Given the description of an element on the screen output the (x, y) to click on. 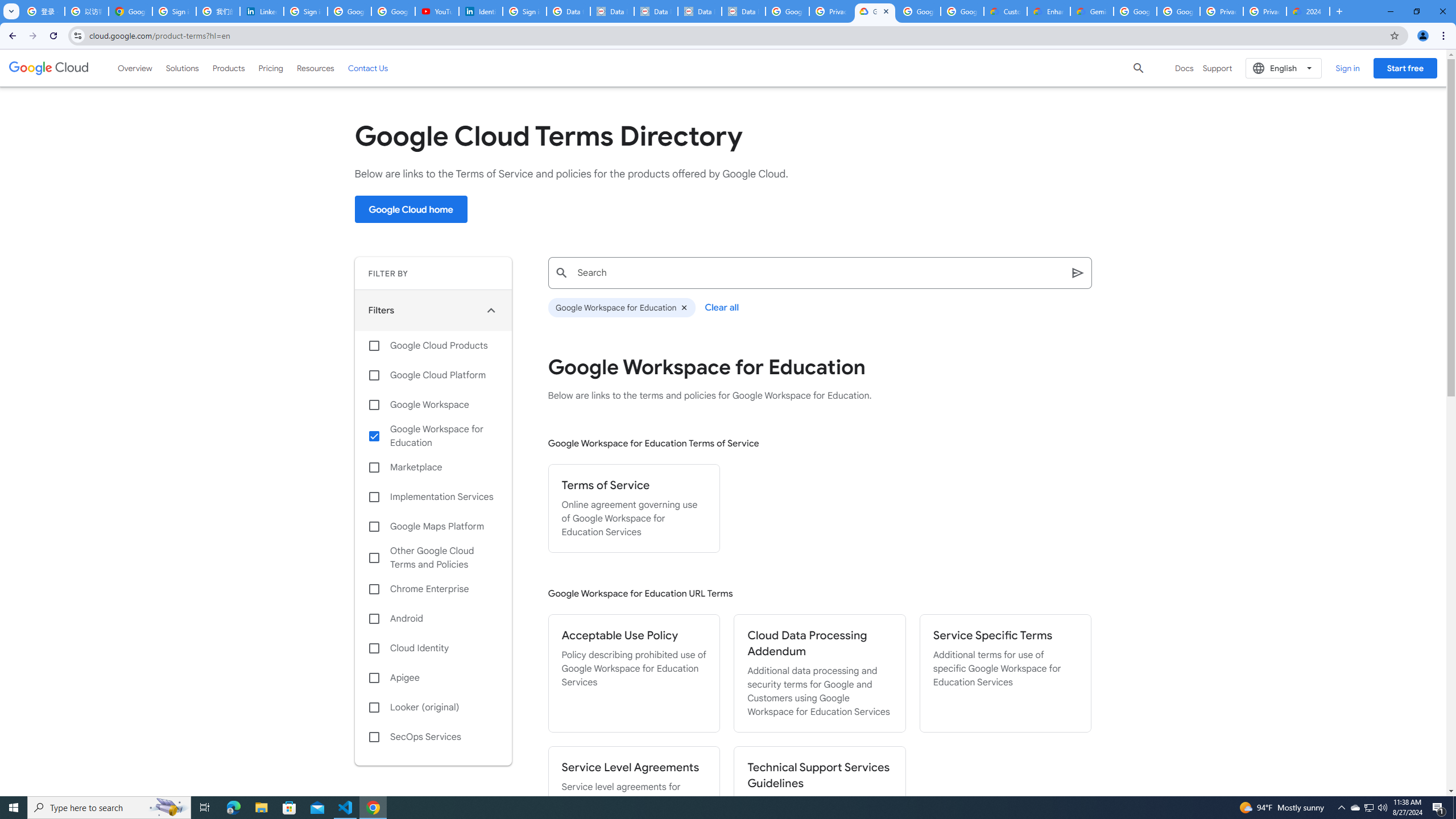
Google Cloud Platform (1134, 11)
Implementation Services (432, 496)
LinkedIn Privacy Policy (261, 11)
Other Google Cloud Terms and Policies (432, 557)
Cloud Identity (432, 648)
Products (228, 67)
Gemini for Business and Developers | Google Cloud (1091, 11)
